Given the description of an element on the screen output the (x, y) to click on. 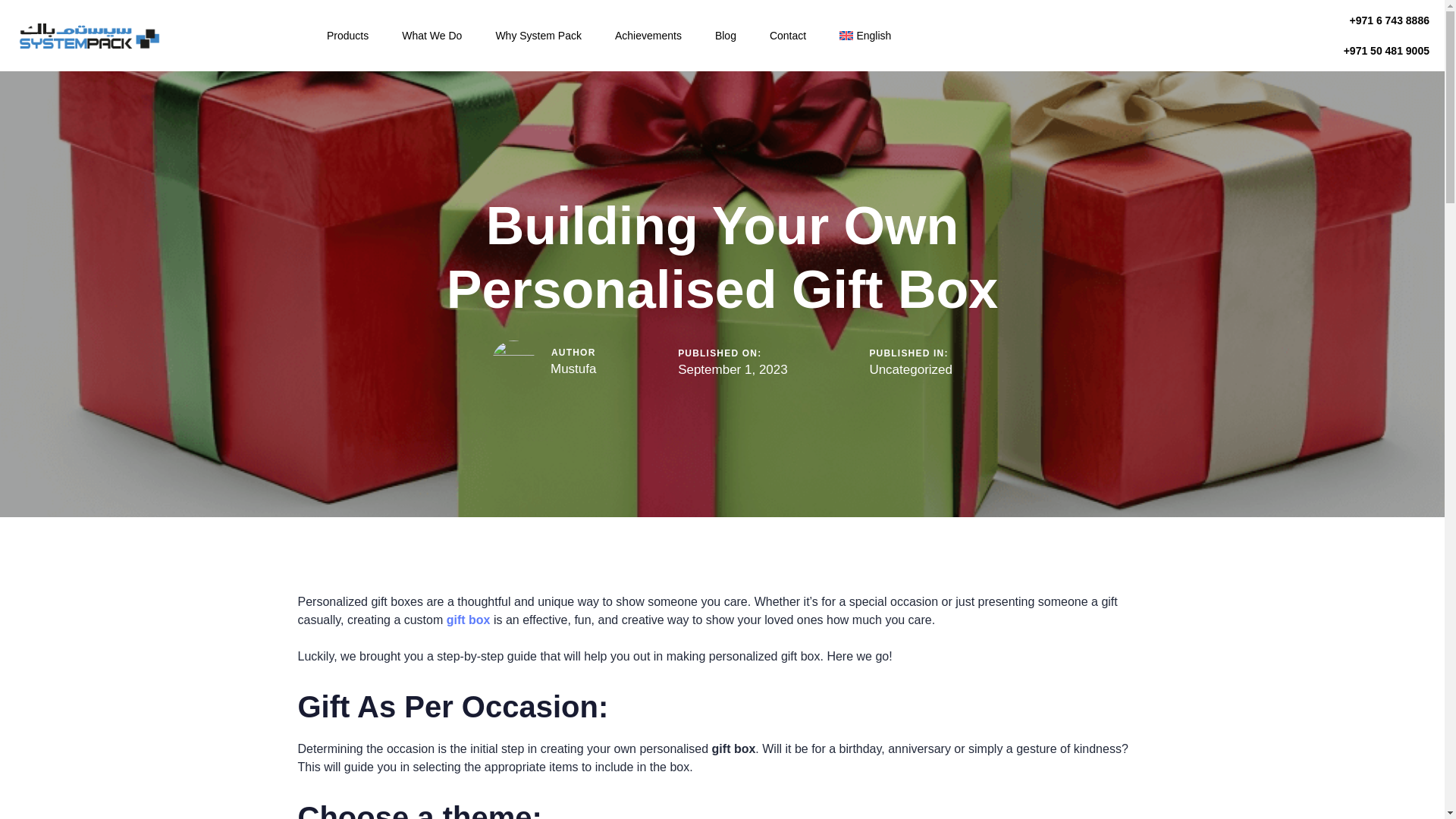
Contact (787, 35)
Products (347, 35)
Posts by Mustufa (572, 368)
Achievements (648, 35)
Why System Pack (538, 35)
English (864, 35)
English (864, 35)
What We Do (432, 35)
